Given the description of an element on the screen output the (x, y) to click on. 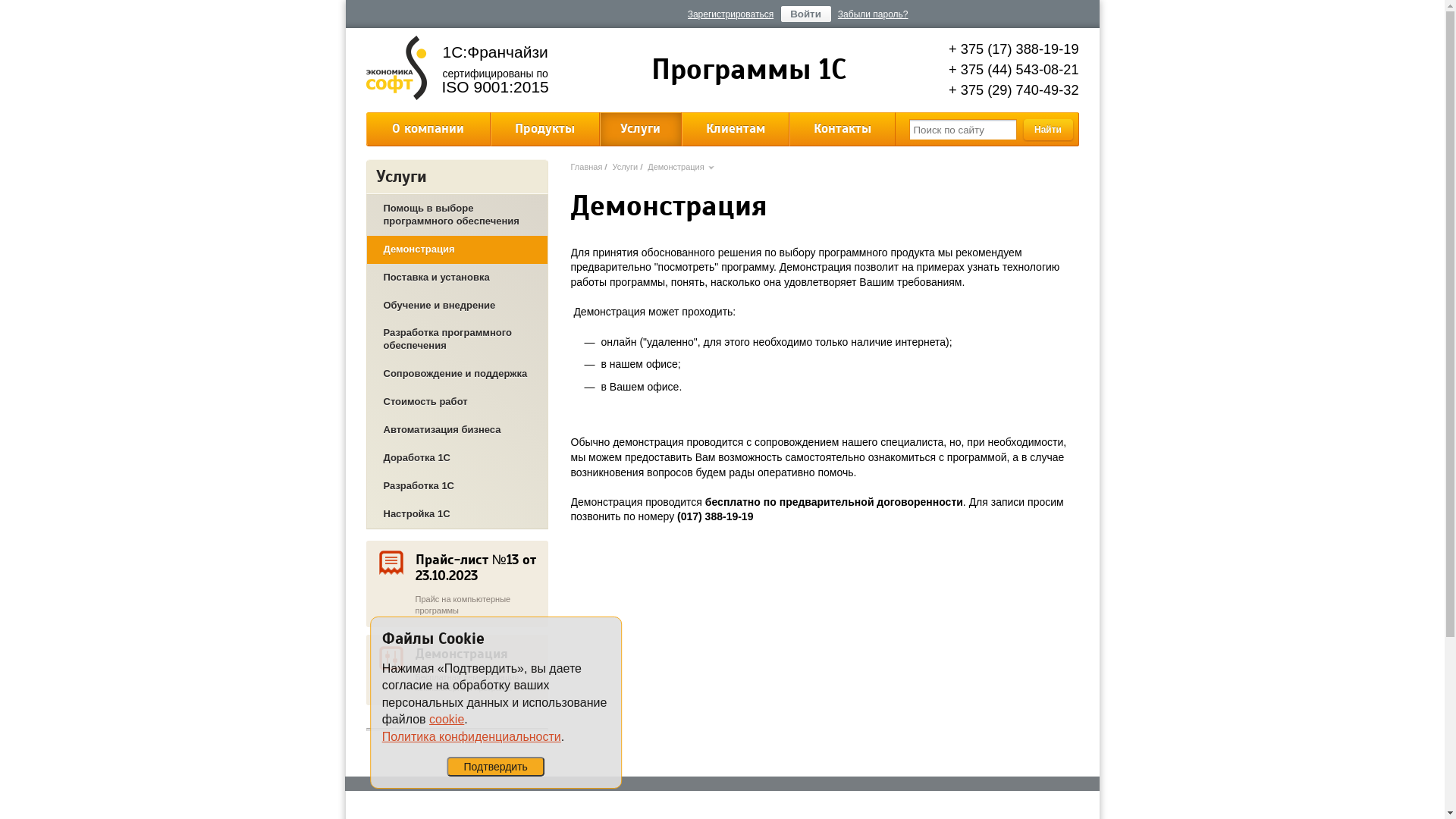
cookie Element type: text (446, 718)
